Given the description of an element on the screen output the (x, y) to click on. 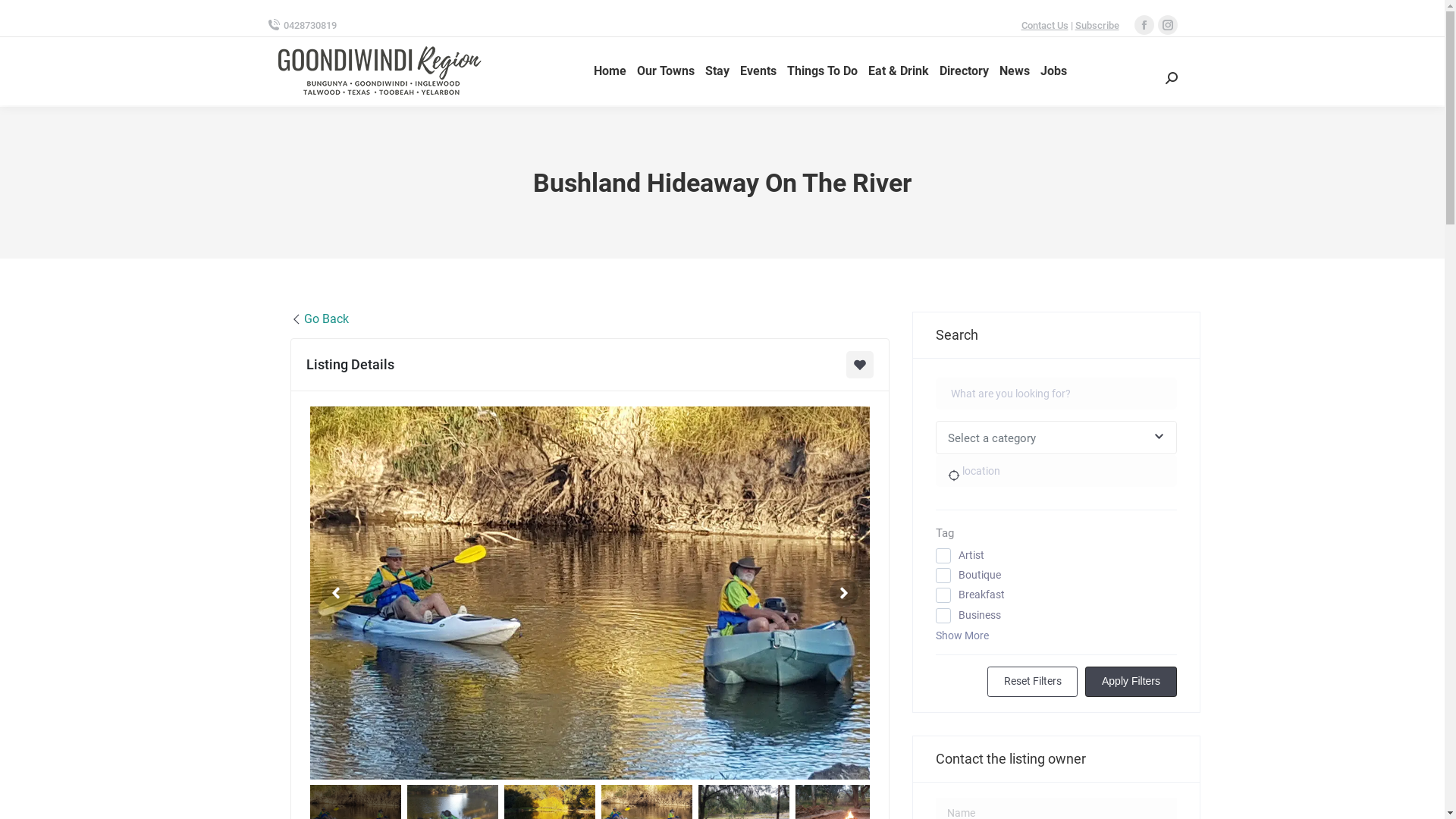
News Element type: text (1014, 70)
Jobs Element type: text (1053, 70)
Contact Us Element type: text (1043, 25)
Apply Filters Element type: text (1130, 681)
Eat & Drink Element type: text (897, 70)
Home Element type: text (609, 70)
Facebook page opens in new window Element type: text (1144, 24)
Things To Do Element type: text (822, 70)
Directory Element type: text (963, 70)
Our Towns Element type: text (665, 70)
Go Back Element type: text (318, 318)
Events Element type: text (758, 70)
Subscribe Element type: text (1097, 25)
Go! Element type: text (23, 16)
Stay Element type: text (717, 70)
Show More Element type: text (961, 635)
Reset Filters Element type: text (1032, 681)
Instagram page opens in new window Element type: text (1166, 24)
